Given the description of an element on the screen output the (x, y) to click on. 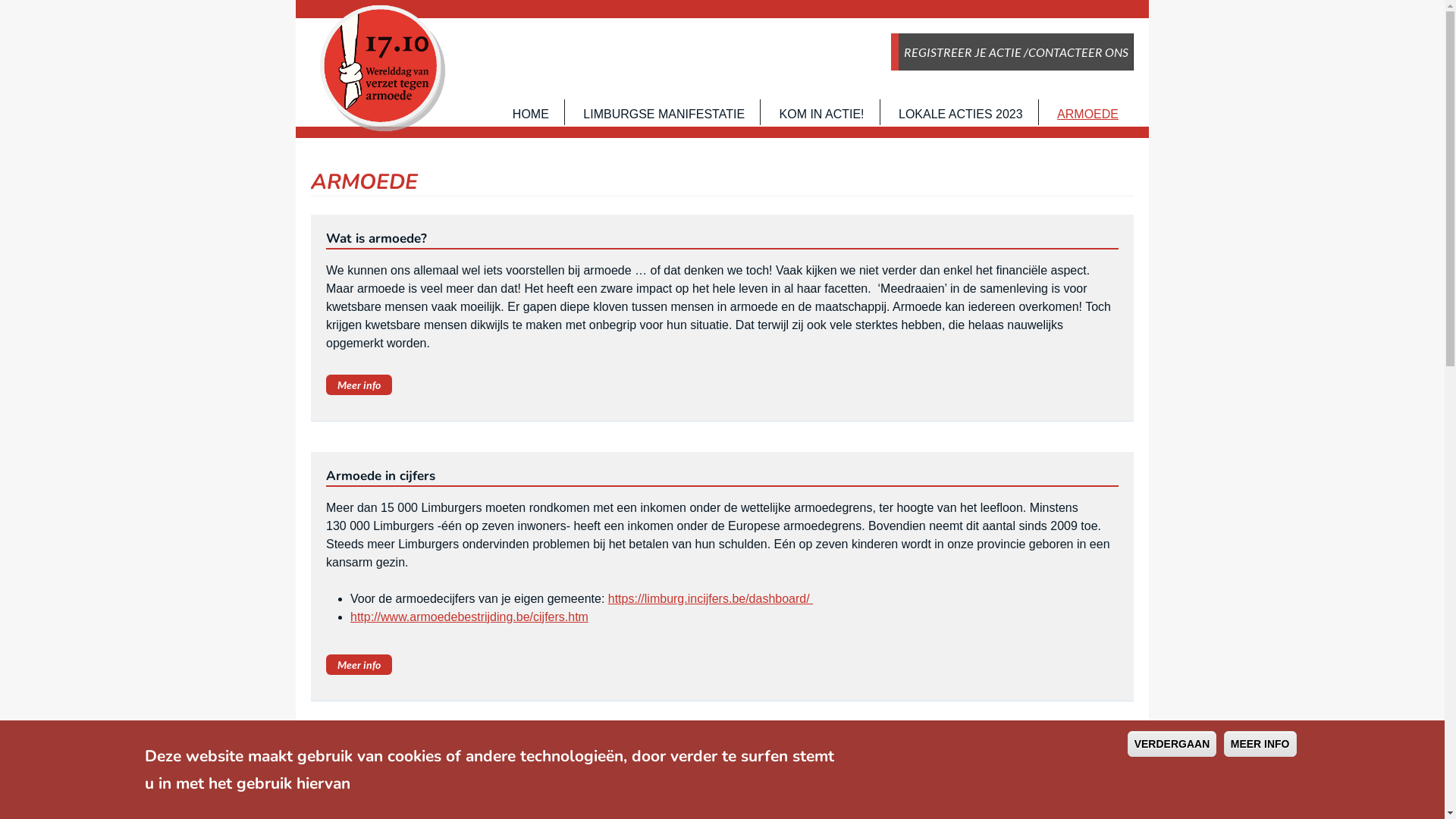
VERDERGAAN Element type: text (1172, 743)
HOME Element type: text (530, 114)
LOKALE ACTIES 2023 Element type: text (960, 114)
LIMBURGSE MANIFESTATIE Element type: text (663, 114)
Meer info Element type: text (359, 664)
http://www.armoedebestrijding.be/cijfers.htm Element type: text (469, 616)
Home Element type: hover (382, 68)
MEER INFO Element type: text (1259, 743)
KOM IN ACTIE! Element type: text (821, 114)
ARMOEDE Element type: text (1087, 114)
Jump to navigation Element type: text (0, 1)
https://limburg.incijfers.be/dashboard/  Element type: text (710, 598)
Meer info Element type: text (359, 384)
REGISTREER JE ACTIE /CONTACTEER ONS Element type: text (1015, 53)
